Given the description of an element on the screen output the (x, y) to click on. 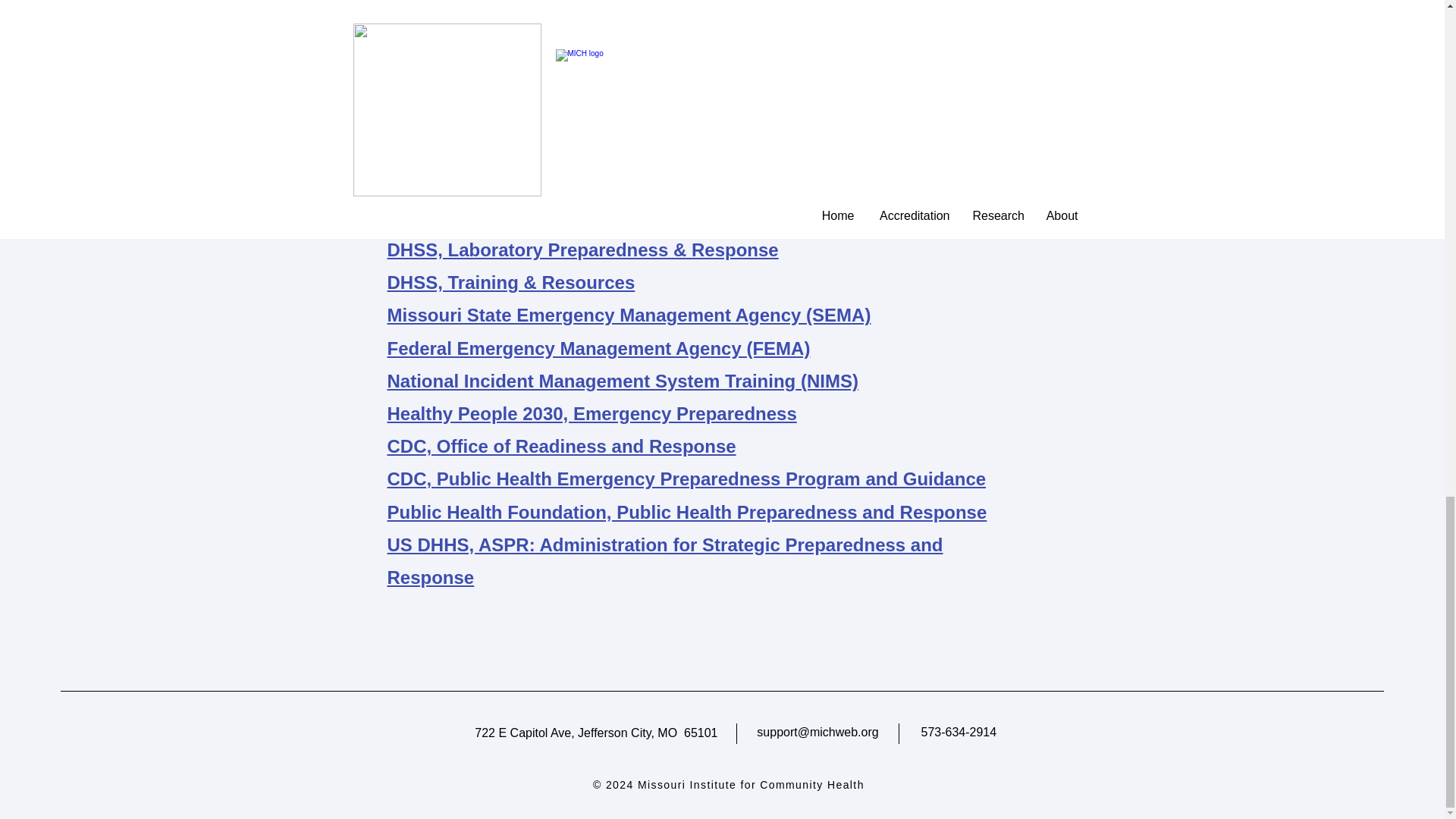
CDC, Office of Readiness and Response (561, 445)
DHSS, Disaster and Emergency Planning (564, 217)
DHSS, Healthcare Preparedness (526, 184)
Healthy People 2030, Emergency Preparedness (591, 413)
